Given the description of an element on the screen output the (x, y) to click on. 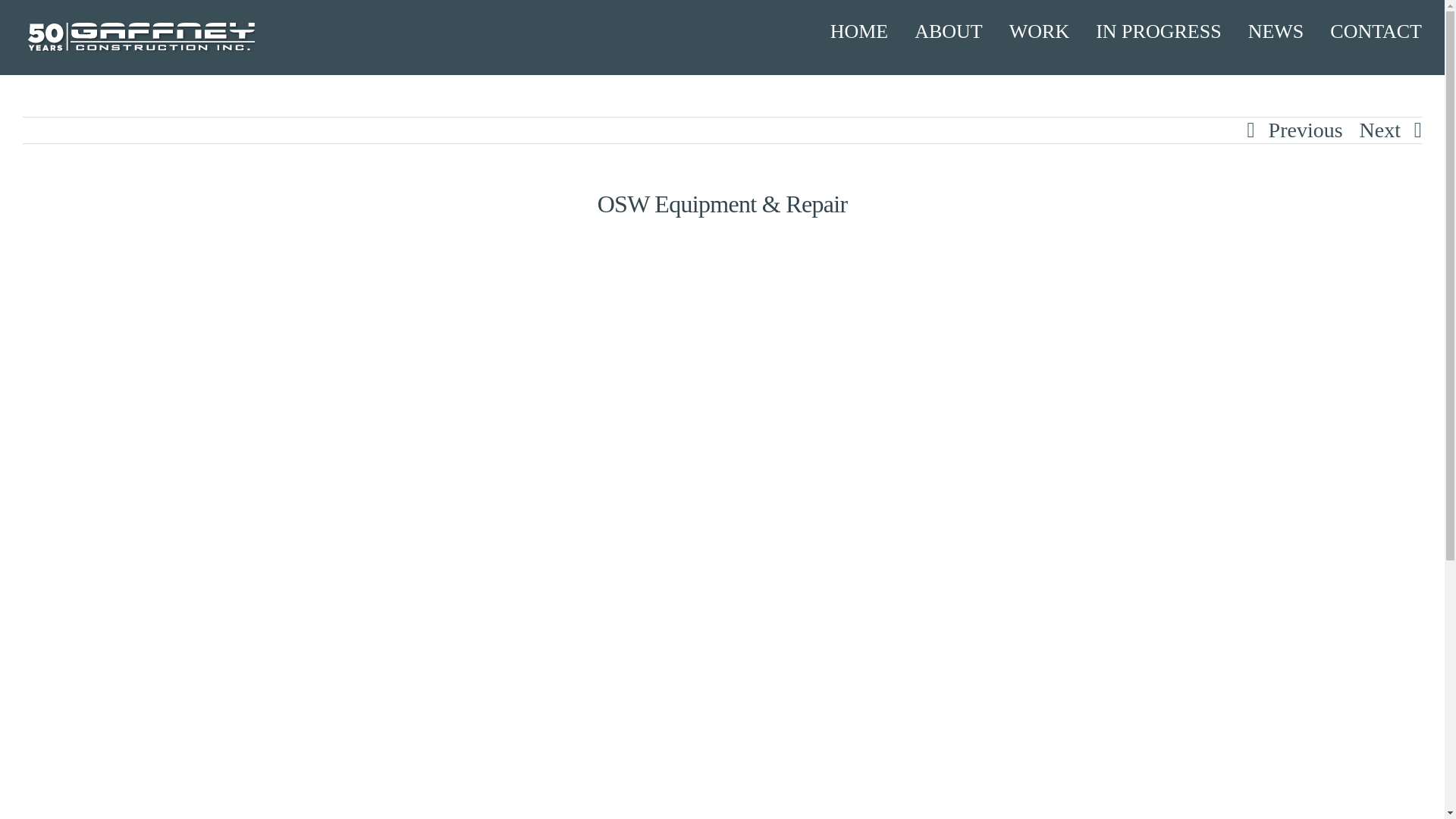
HOME (858, 31)
Next (1379, 130)
WORK (1038, 31)
IN PROGRESS (1158, 31)
CONTACT (1376, 31)
Previous (1305, 130)
ABOUT (948, 31)
